Given the description of an element on the screen output the (x, y) to click on. 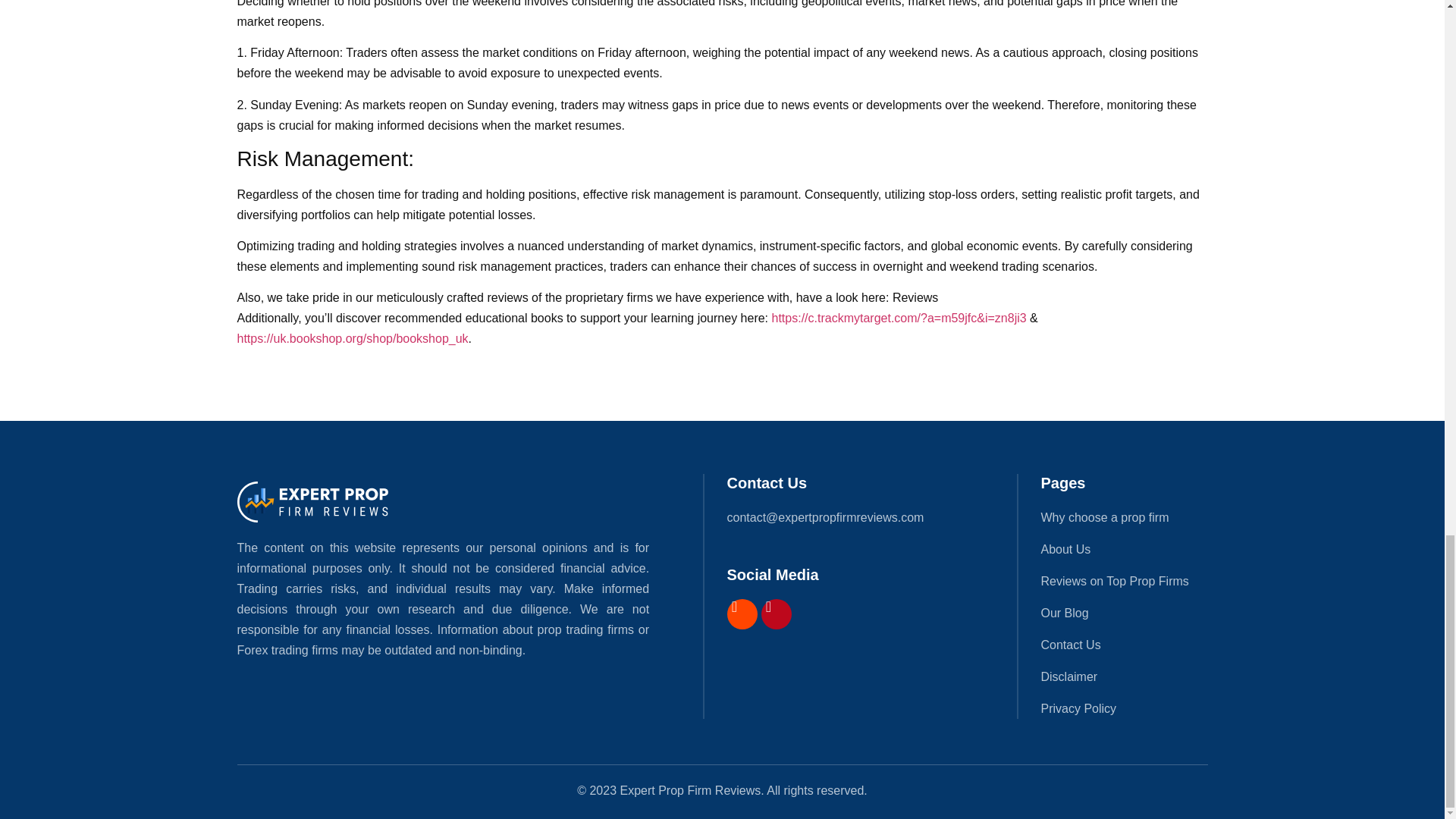
Our Blog (1126, 612)
Disclaimer (1126, 676)
Why choose a prop firm (1126, 516)
Contact Us (1126, 644)
Reviews on Top Prop Firms (1126, 580)
About Us (1126, 548)
Privacy Policy (1126, 708)
